Given the description of an element on the screen output the (x, y) to click on. 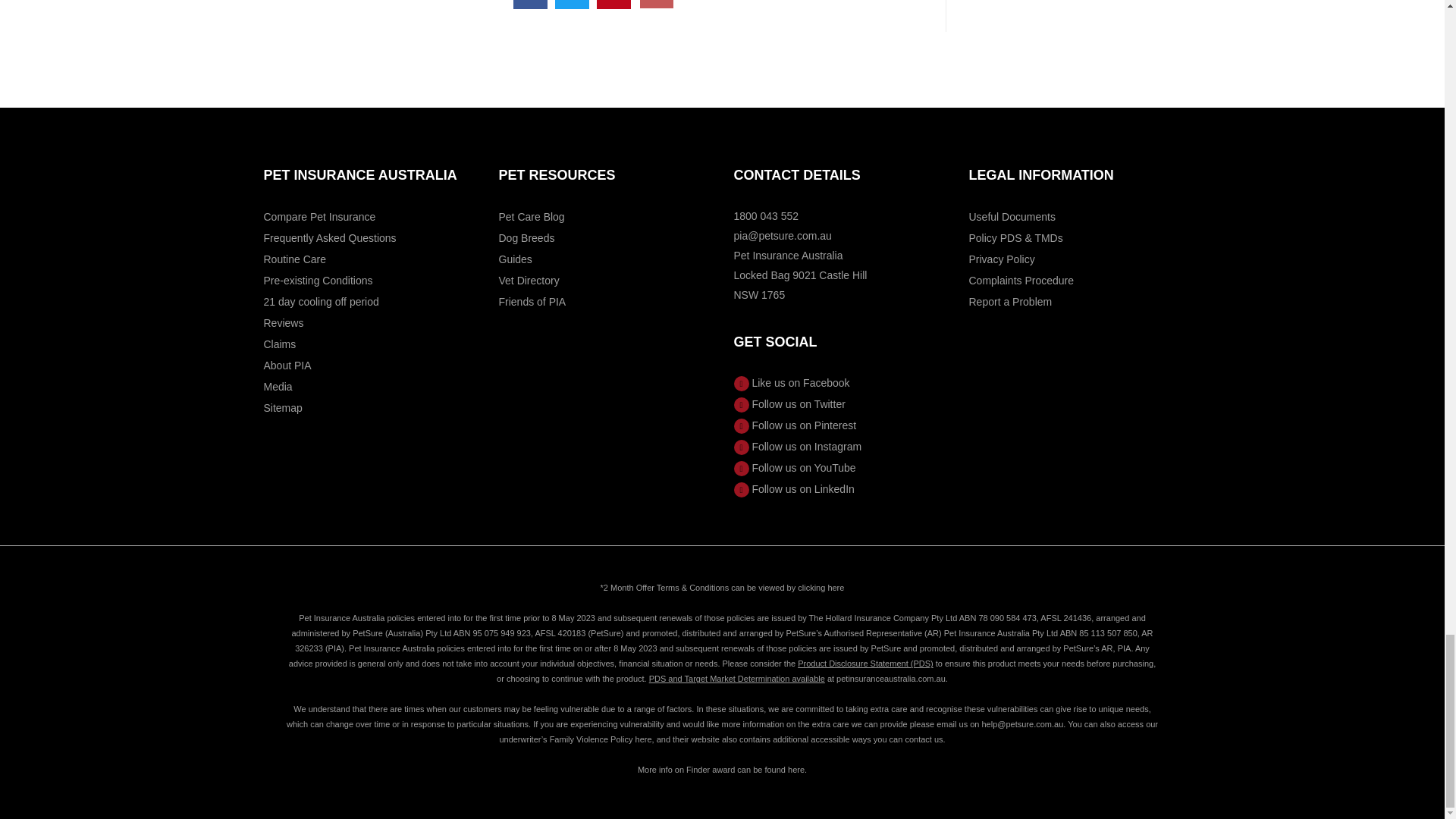
Compare Pet Insurance (319, 216)
About PIA (287, 365)
Media (277, 386)
Routine Care (294, 259)
21 day cooling off period (320, 301)
Reviews (283, 322)
Claims (280, 344)
Pre-existing Conditions (317, 280)
Frequently Asked Questions (329, 237)
